Given the description of an element on the screen output the (x, y) to click on. 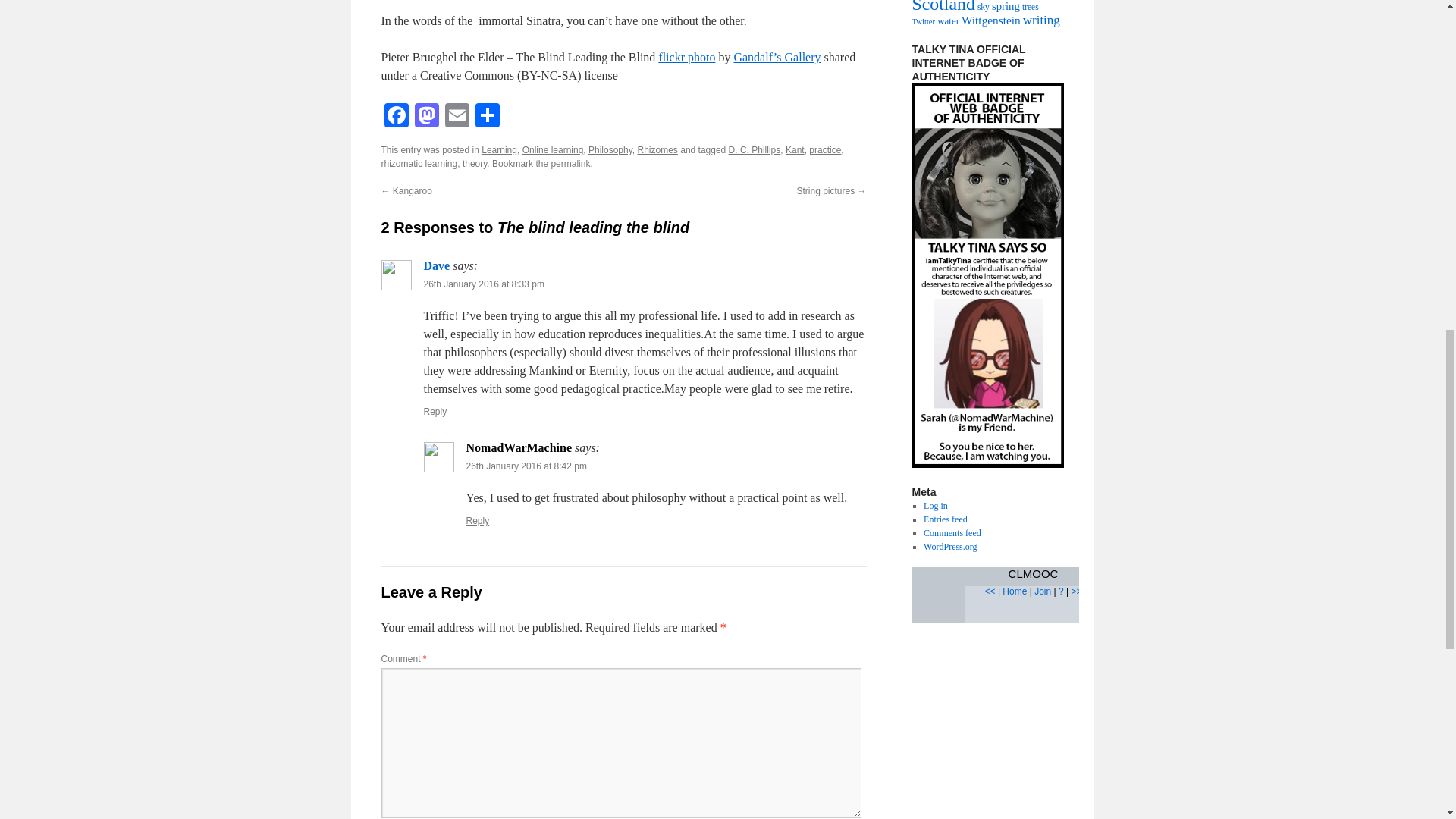
Facebook (395, 117)
Mastodon (425, 117)
Philosophy (609, 149)
Email (456, 117)
flickr photo (686, 56)
Rhizomes (657, 149)
Dave (436, 265)
Mastodon (425, 117)
Online learning (552, 149)
Kant (795, 149)
theory (474, 163)
Permalink to The blind leading the blind (569, 163)
Share (486, 117)
Next (1075, 591)
Learning (498, 149)
